Given the description of an element on the screen output the (x, y) to click on. 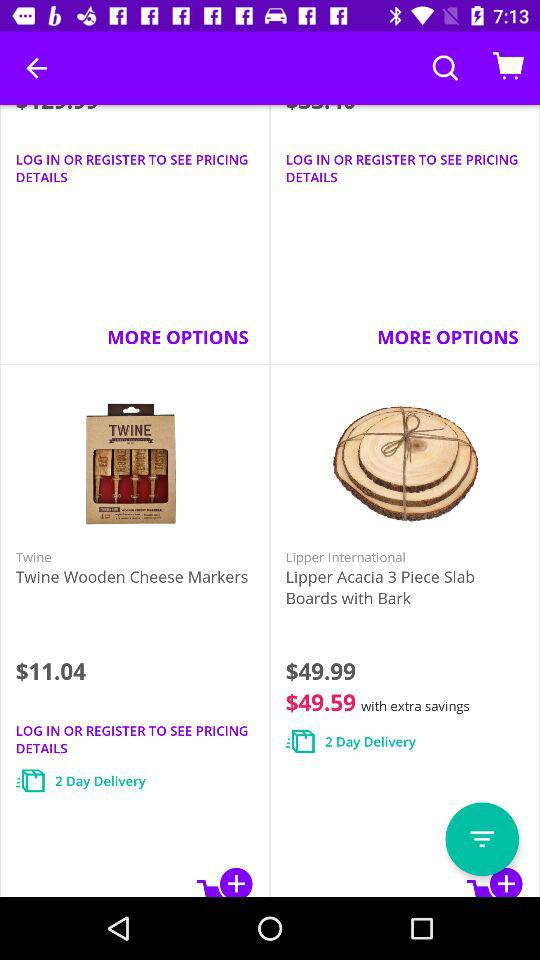
click the item below with extra savings (482, 839)
